Given the description of an element on the screen output the (x, y) to click on. 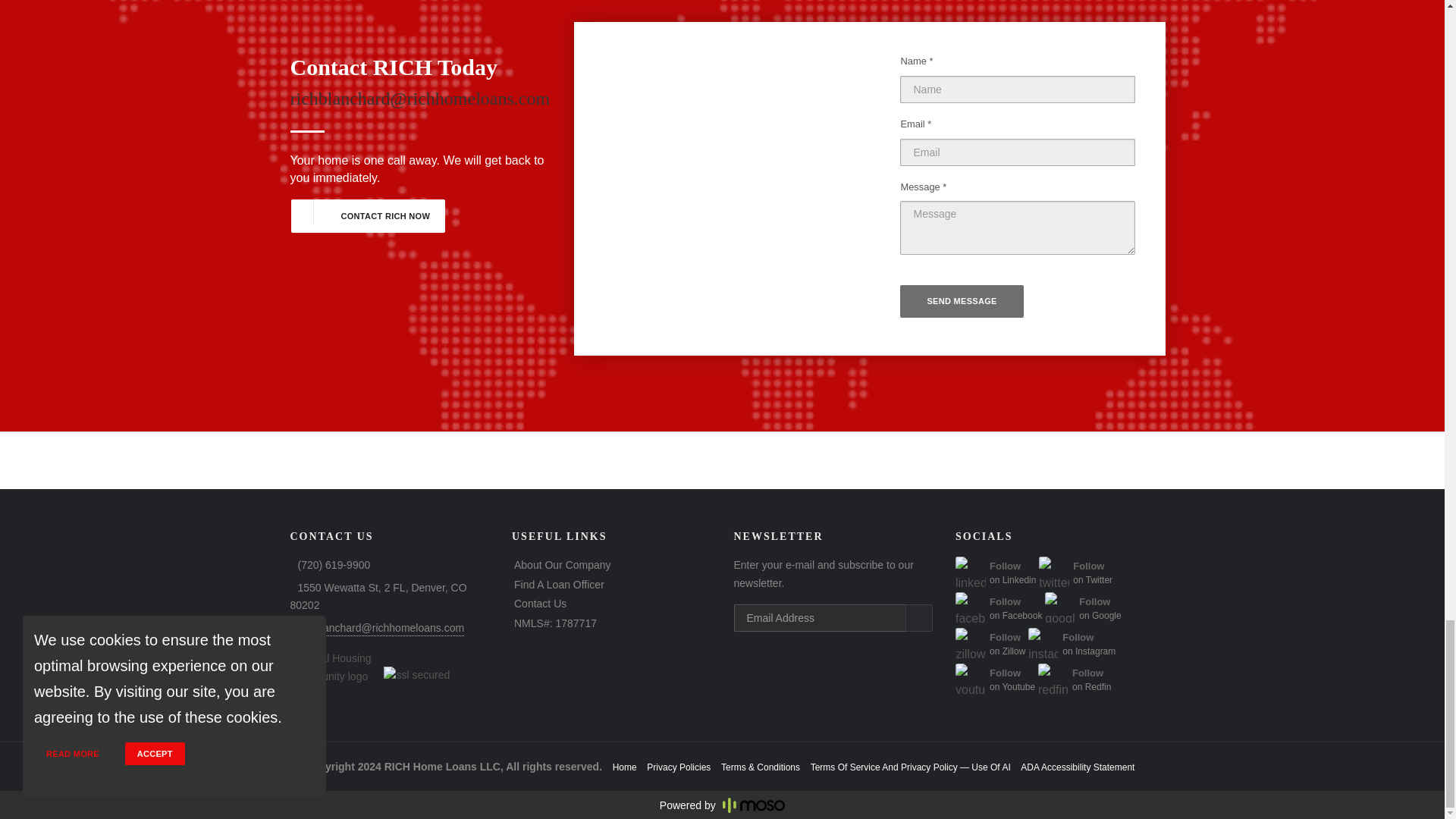
About Our Company (562, 564)
Contact Us (539, 603)
CONTACT RICH NOW (1071, 652)
Find A Loan Officer (367, 216)
